Given the description of an element on the screen output the (x, y) to click on. 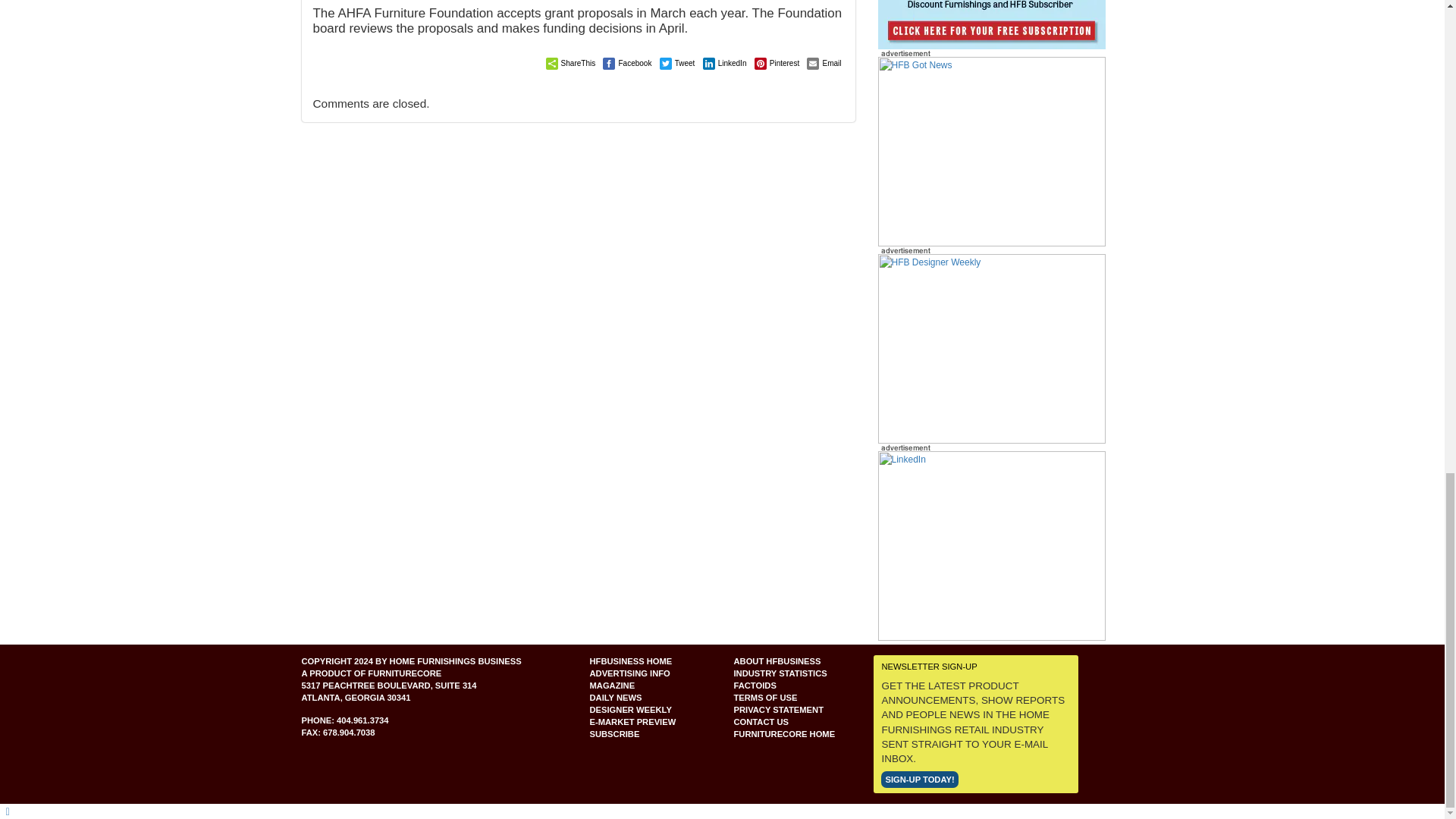
HFB Subscribe IHeart Schell (991, 24)
HFB Subscribe IHeart (991, 151)
HFB Got News (991, 150)
